Given the description of an element on the screen output the (x, y) to click on. 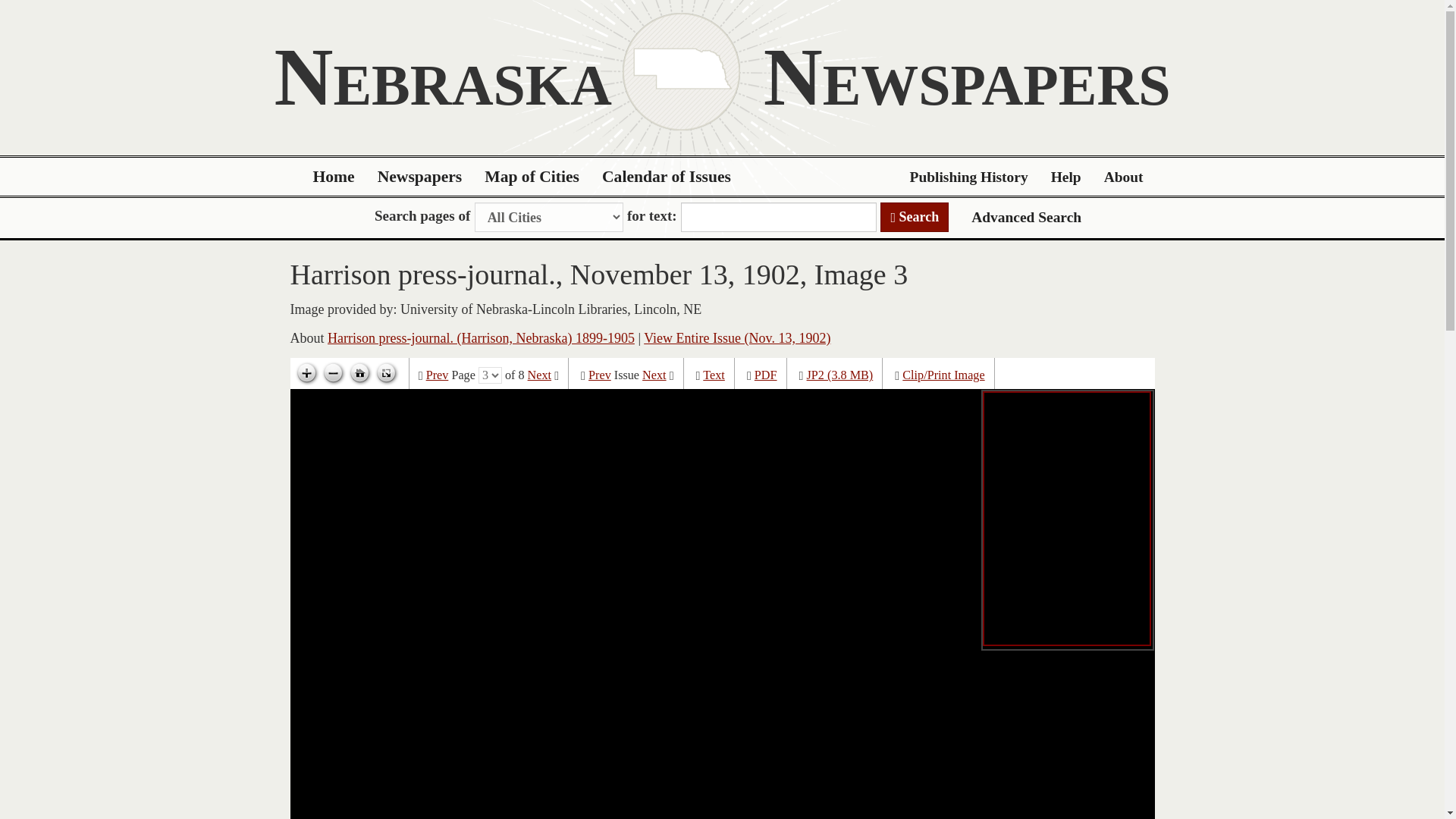
Next (653, 375)
Help (1066, 176)
Prev (599, 375)
About (1123, 176)
Calendar of Issues (666, 176)
PDF (765, 375)
Zoom out (333, 373)
Toggle full page (385, 373)
Zoom in (307, 373)
Advanced Search (1026, 216)
